Given the description of an element on the screen output the (x, y) to click on. 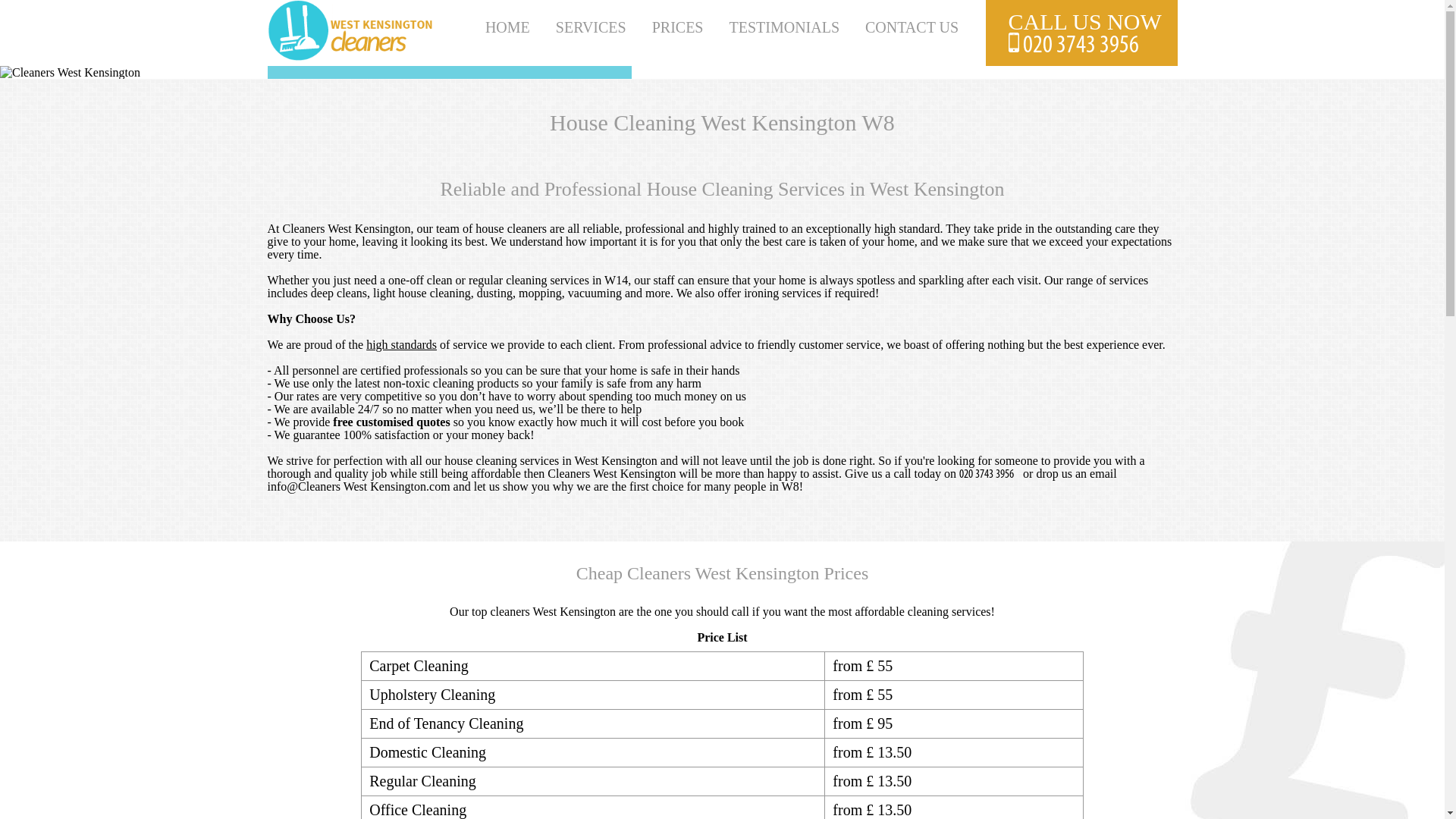
Call Now! (989, 472)
SERVICES (591, 27)
Cleaners West Kensington (352, 56)
CONTACT US (911, 27)
TESTIMONIALS (784, 27)
PRICES (677, 27)
